Given the description of an element on the screen output the (x, y) to click on. 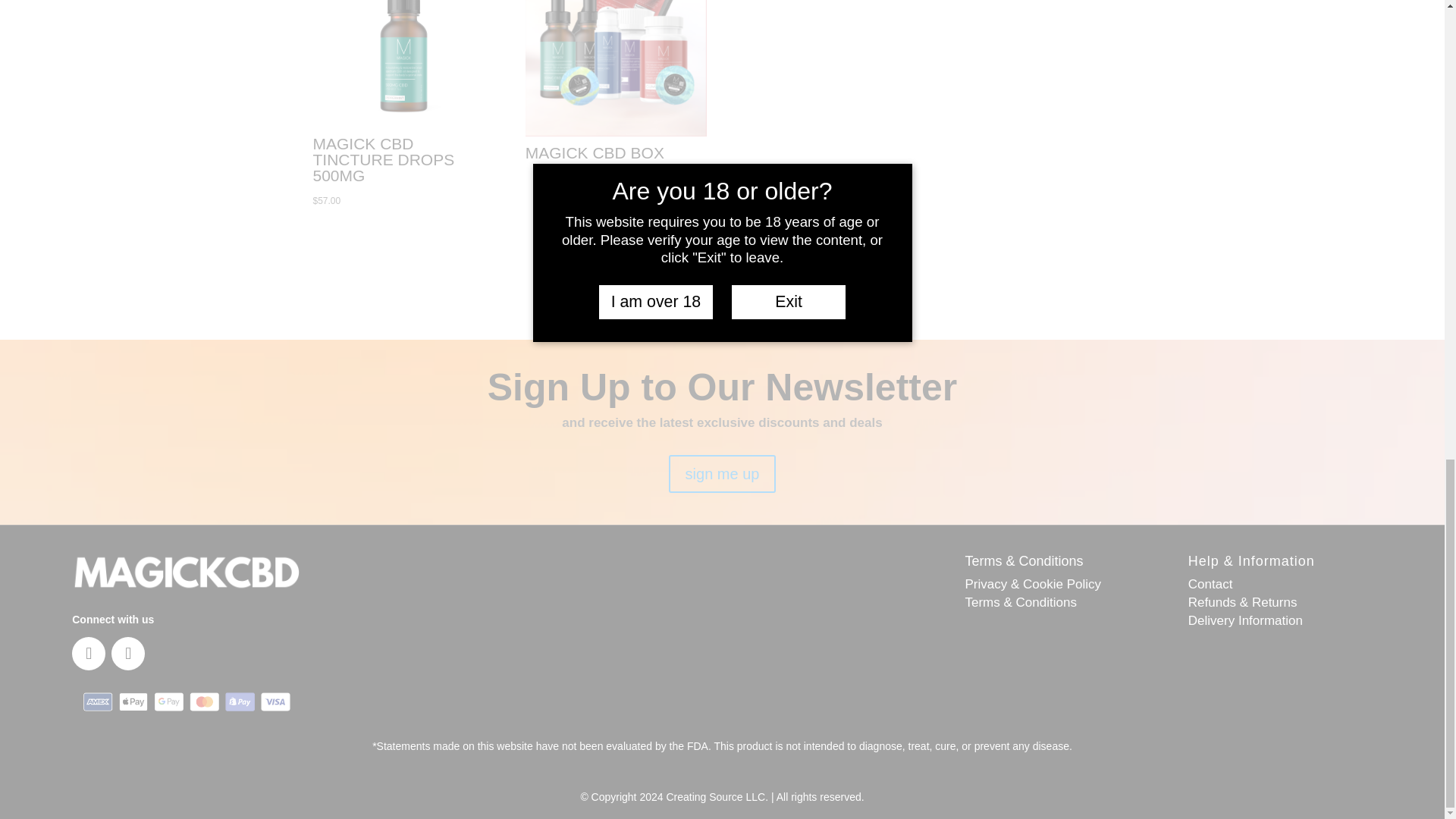
sign me up (722, 474)
MAGICK CBD BOX (615, 84)
Delivery Information (1245, 620)
Follow on Instagram (128, 653)
Follow on Facebook (87, 653)
Magick-logo-white (185, 572)
Contact (1210, 584)
